Given the description of an element on the screen output the (x, y) to click on. 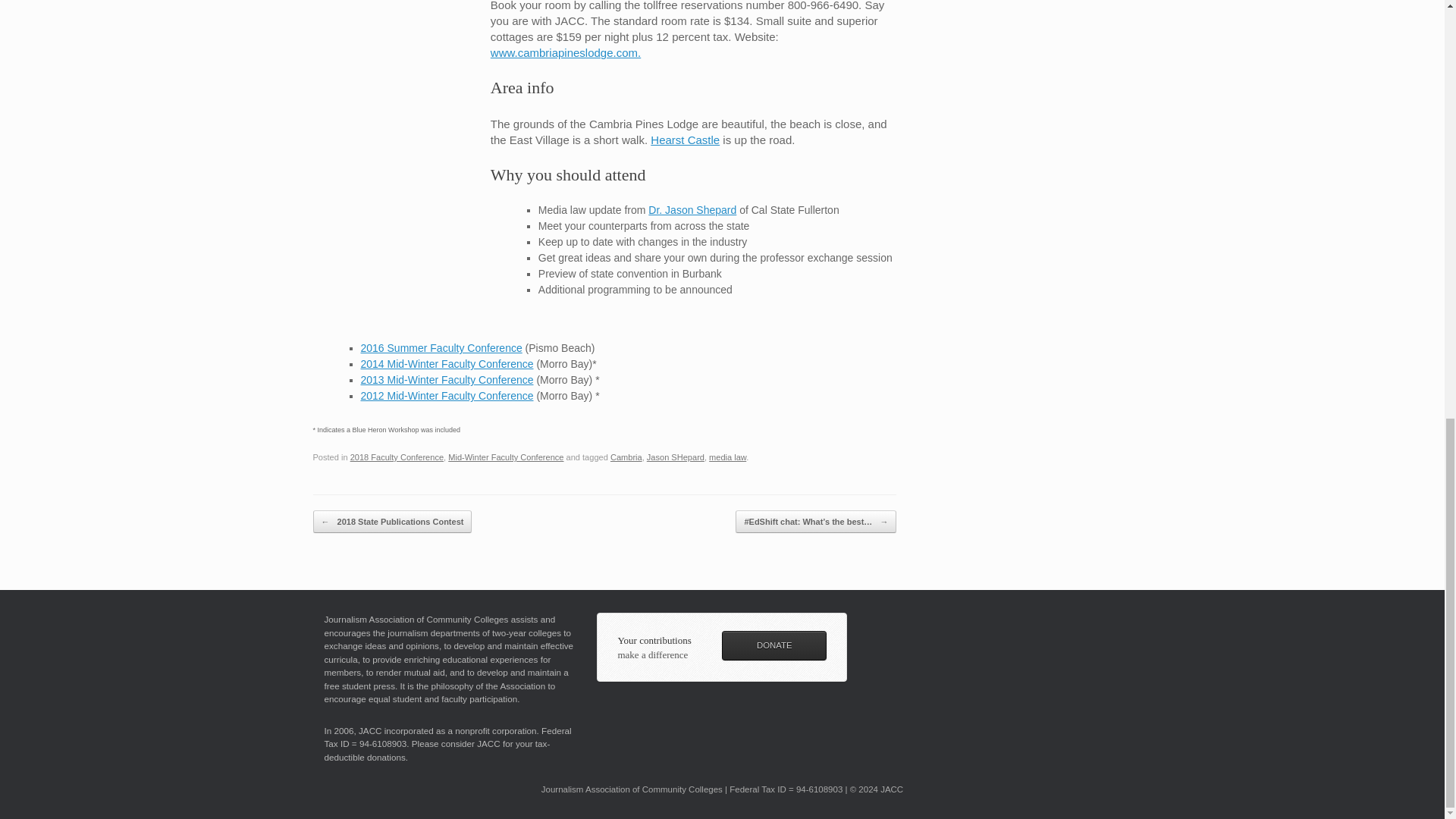
2018 Faculty Conference (397, 456)
Cambria (626, 456)
Jason SHepard (675, 456)
Dr. Jason Shepard (691, 209)
2016 Summer Faculty Conference (441, 347)
2014 Mid-Winter Faculty Conference (447, 363)
Hearst Castle (684, 139)
www.cambriapineslodge.com. (565, 51)
2013 Mid-Winter Faculty Conference (447, 379)
2012 Mid-Winter Faculty Conference (447, 395)
media law (727, 456)
Mid-Winter Faculty Conference (505, 456)
